Given the description of an element on the screen output the (x, y) to click on. 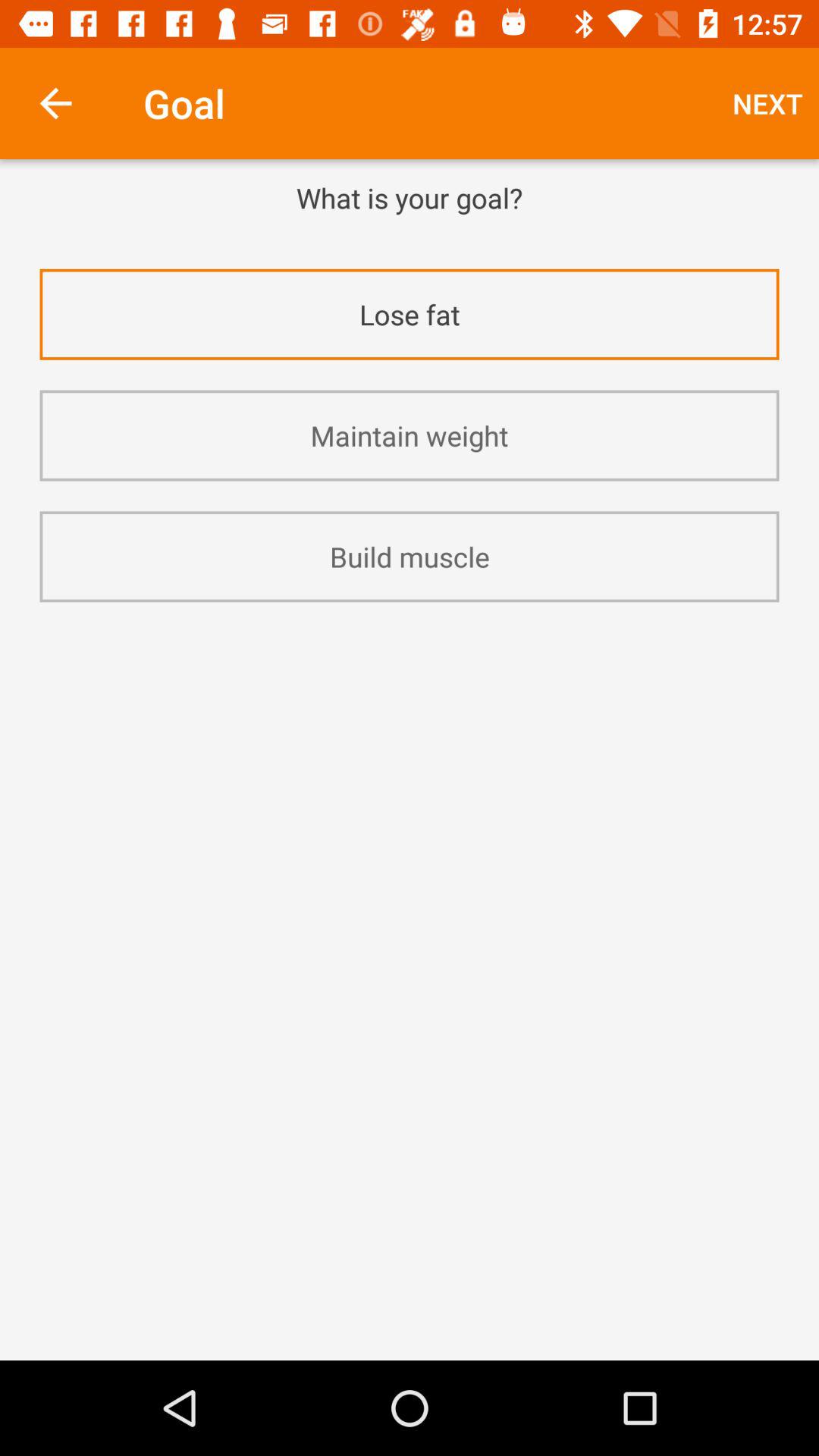
turn off icon above the what is your item (767, 103)
